Given the description of an element on the screen output the (x, y) to click on. 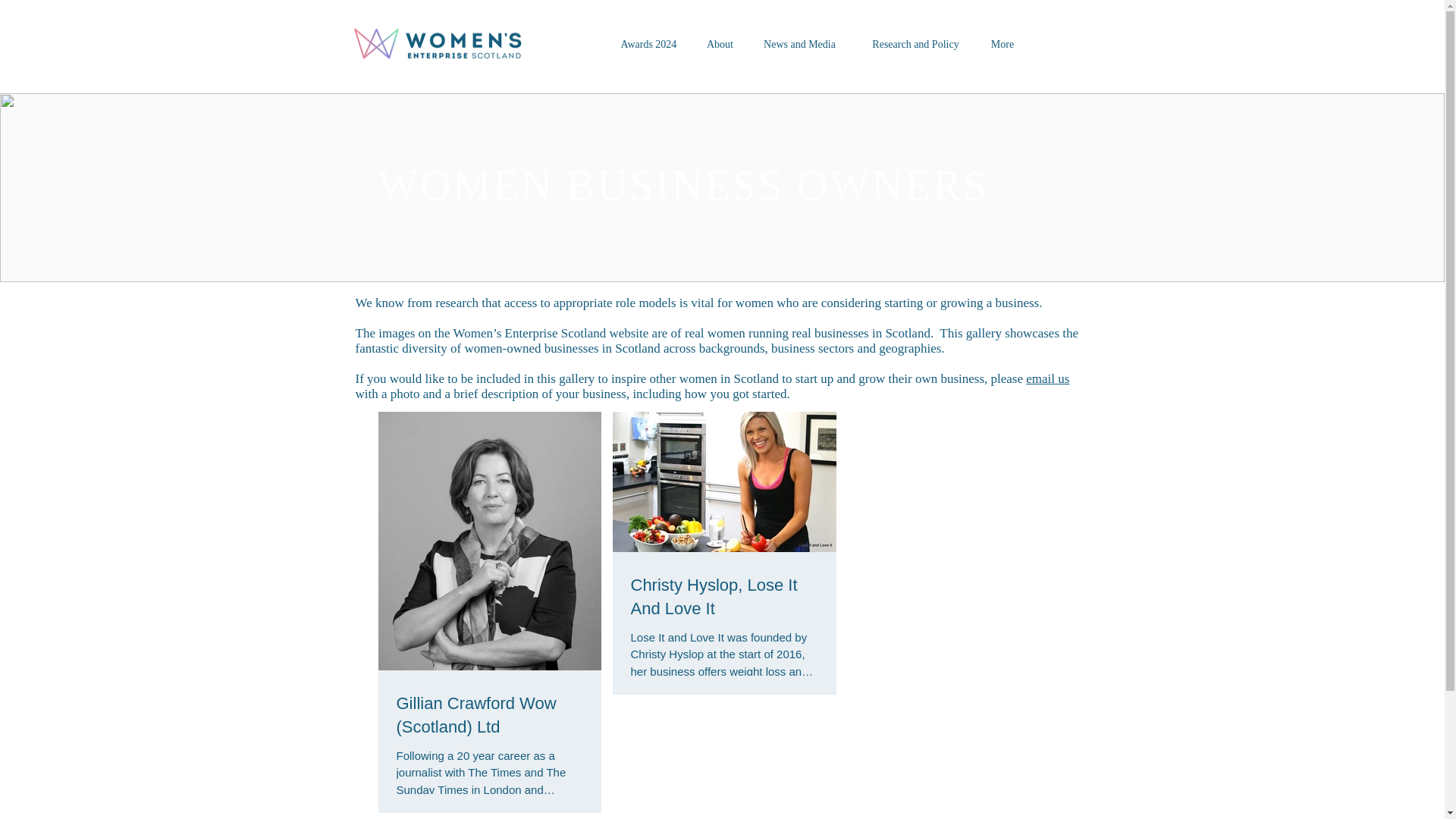
Awards 2024 (648, 44)
Christy Hyslop, Lose It And Love It (724, 597)
About (719, 44)
email us (1047, 378)
News and Media (798, 44)
Research and Policy (914, 44)
